Given the description of an element on the screen output the (x, y) to click on. 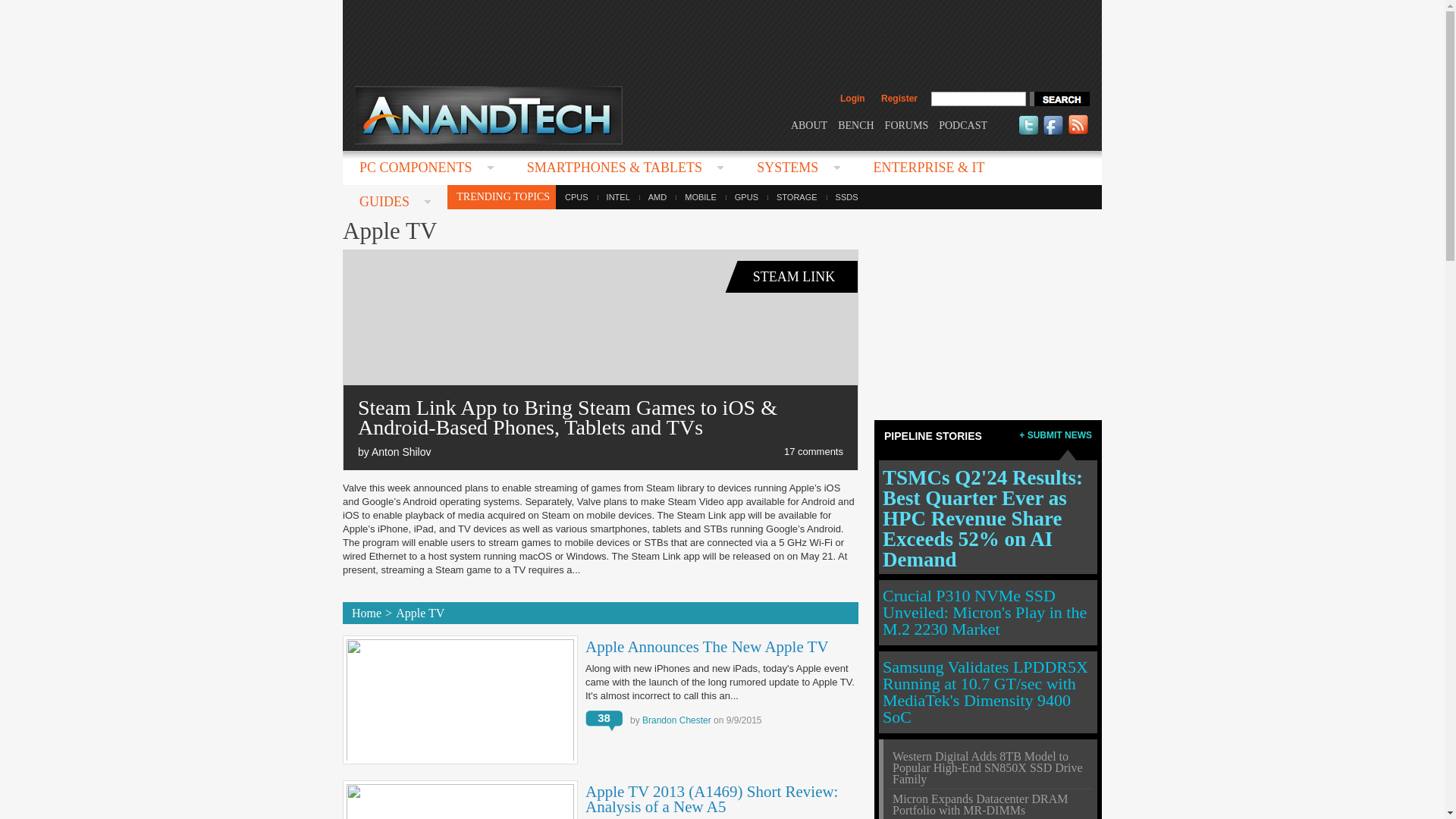
FORUMS (906, 125)
Login (852, 98)
search (1059, 98)
Register (898, 98)
BENCH (855, 125)
search (1059, 98)
PODCAST (963, 125)
ABOUT (808, 125)
search (1059, 98)
